Given the description of an element on the screen output the (x, y) to click on. 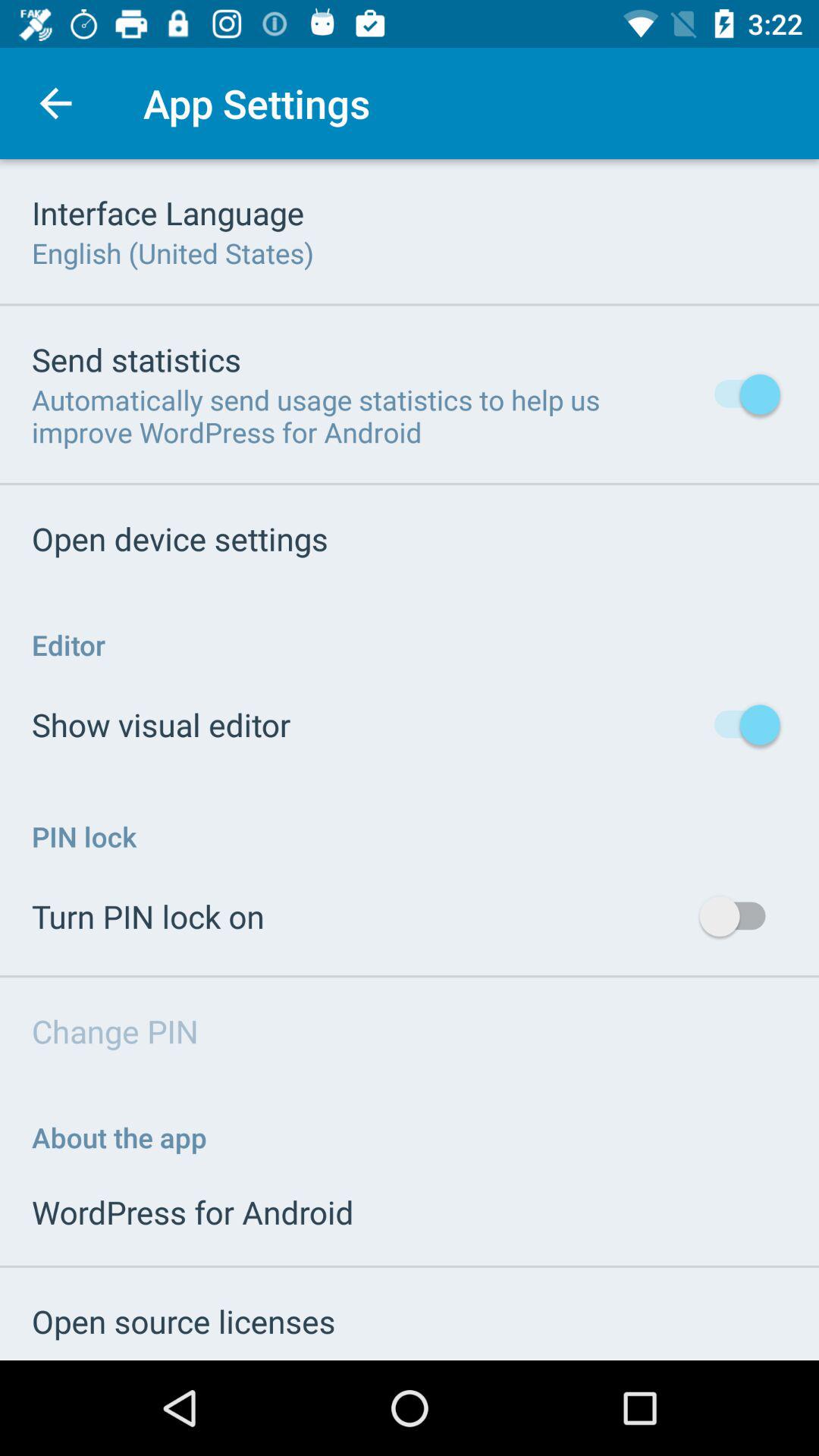
choose item next to app settings icon (55, 103)
